Given the description of an element on the screen output the (x, y) to click on. 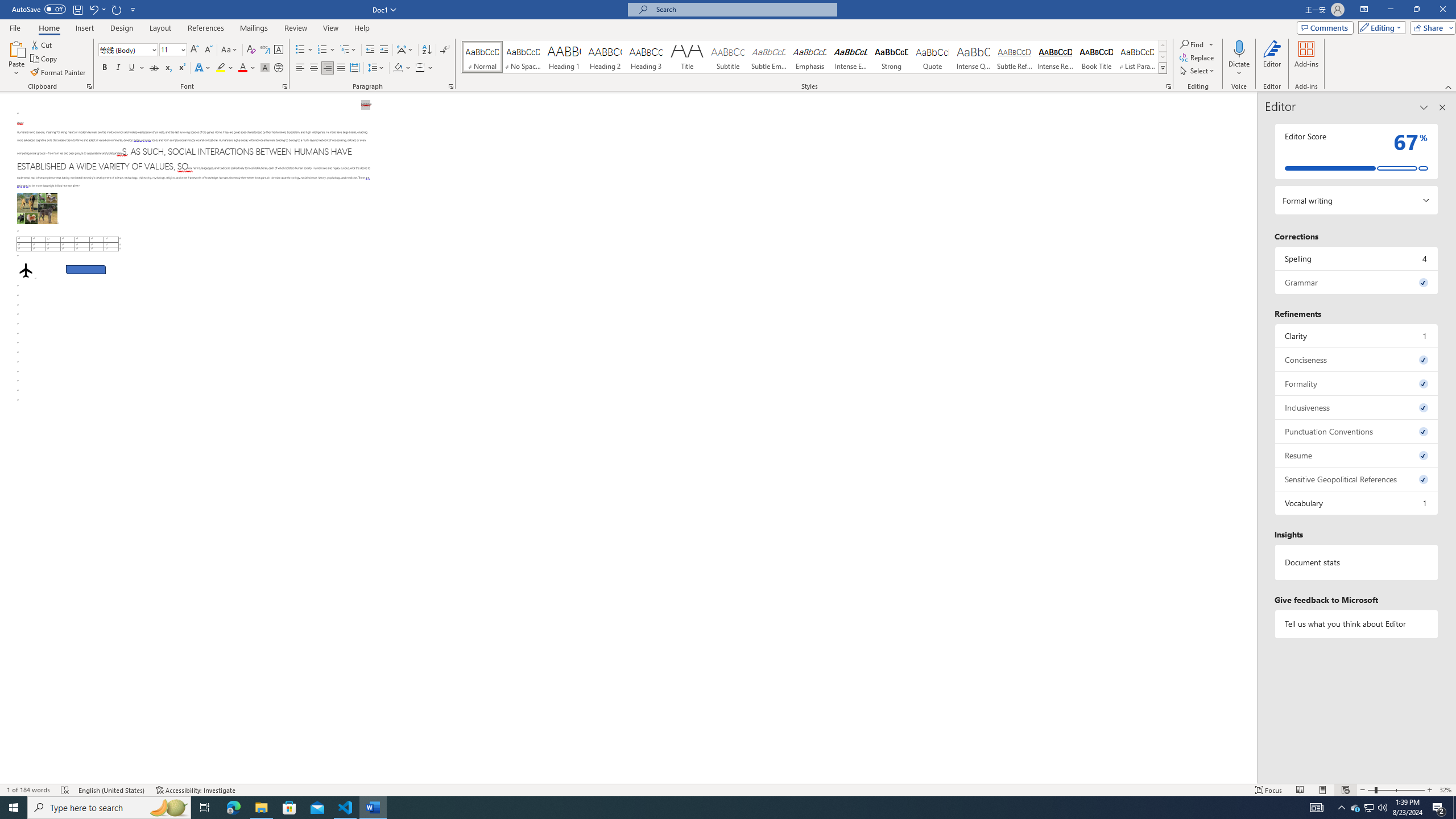
Book Title (1095, 56)
